Given the description of an element on the screen output the (x, y) to click on. 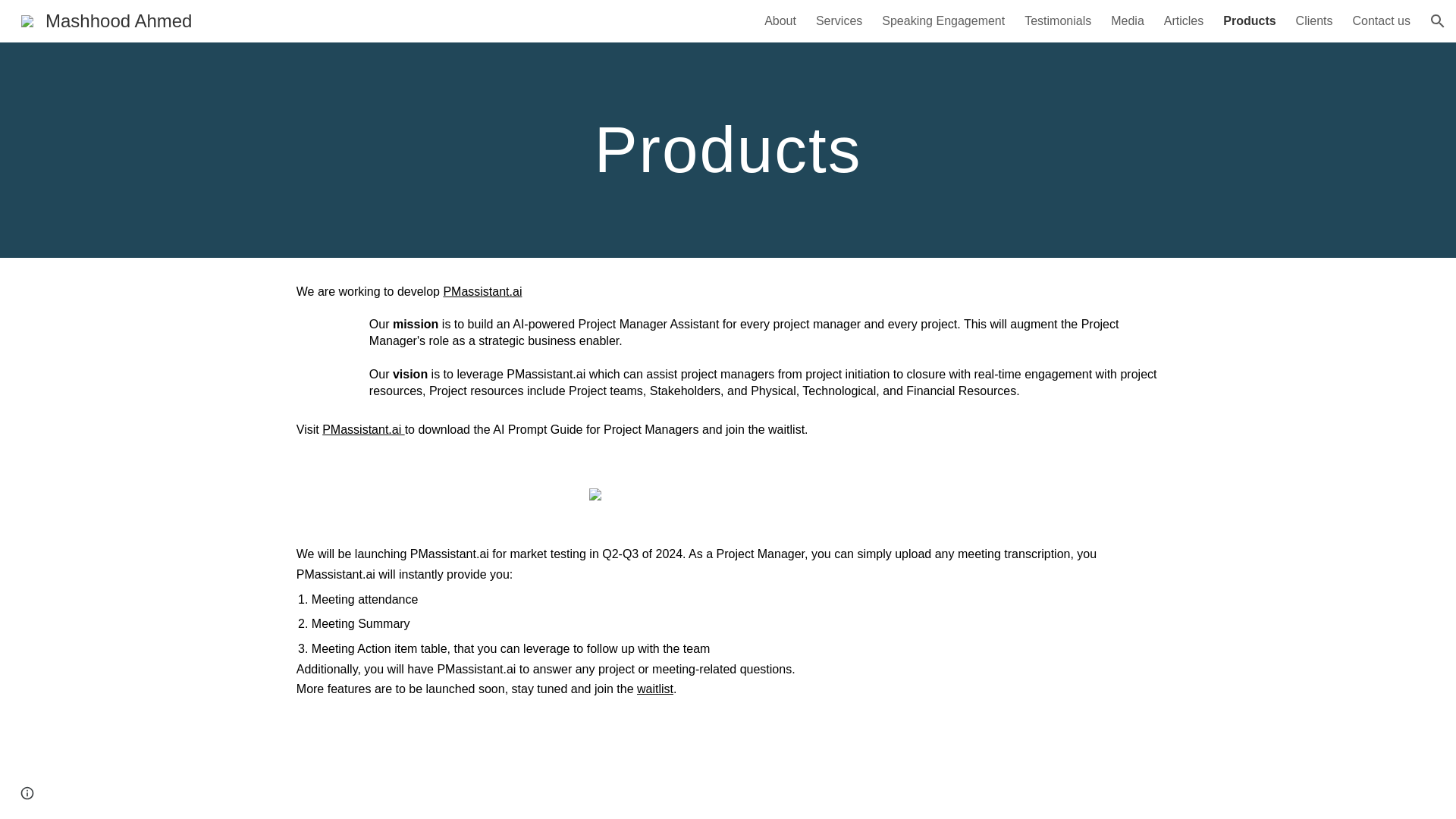
Media (1127, 20)
Products (1249, 20)
Testimonials (1057, 20)
Contact us (1381, 20)
PMassistant.ai (362, 429)
Services (838, 20)
waitlist (654, 688)
PMassistant.ai (481, 291)
Speaking Engagement (943, 20)
Articles (1183, 20)
About (780, 20)
Clients (1314, 20)
Mashhood Ahmed (105, 19)
